Given the description of an element on the screen output the (x, y) to click on. 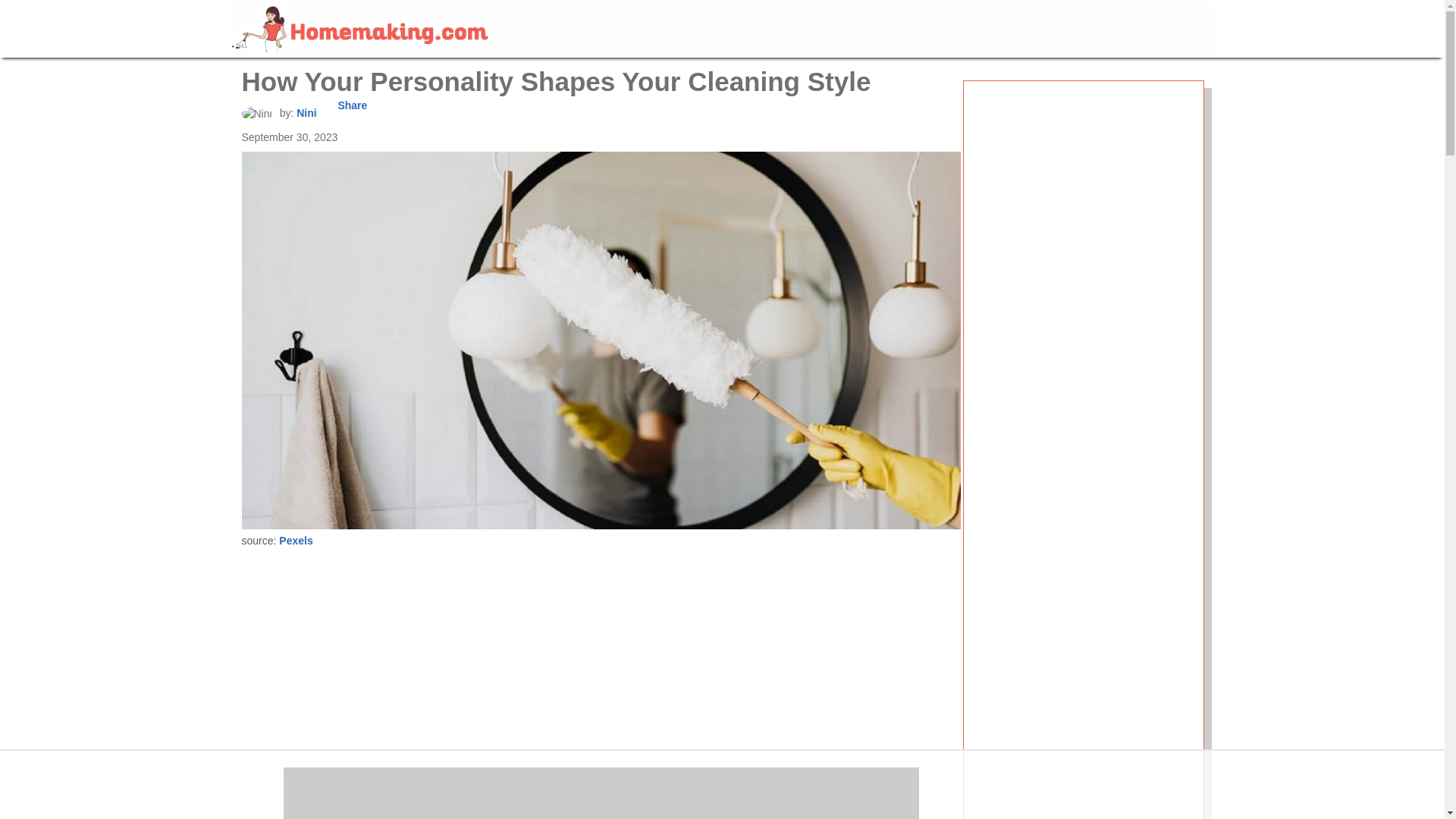
Nini (255, 114)
Pexels (296, 540)
Nini (306, 112)
Posts by Nini (306, 112)
Home (358, 27)
Share (351, 105)
